Given the description of an element on the screen output the (x, y) to click on. 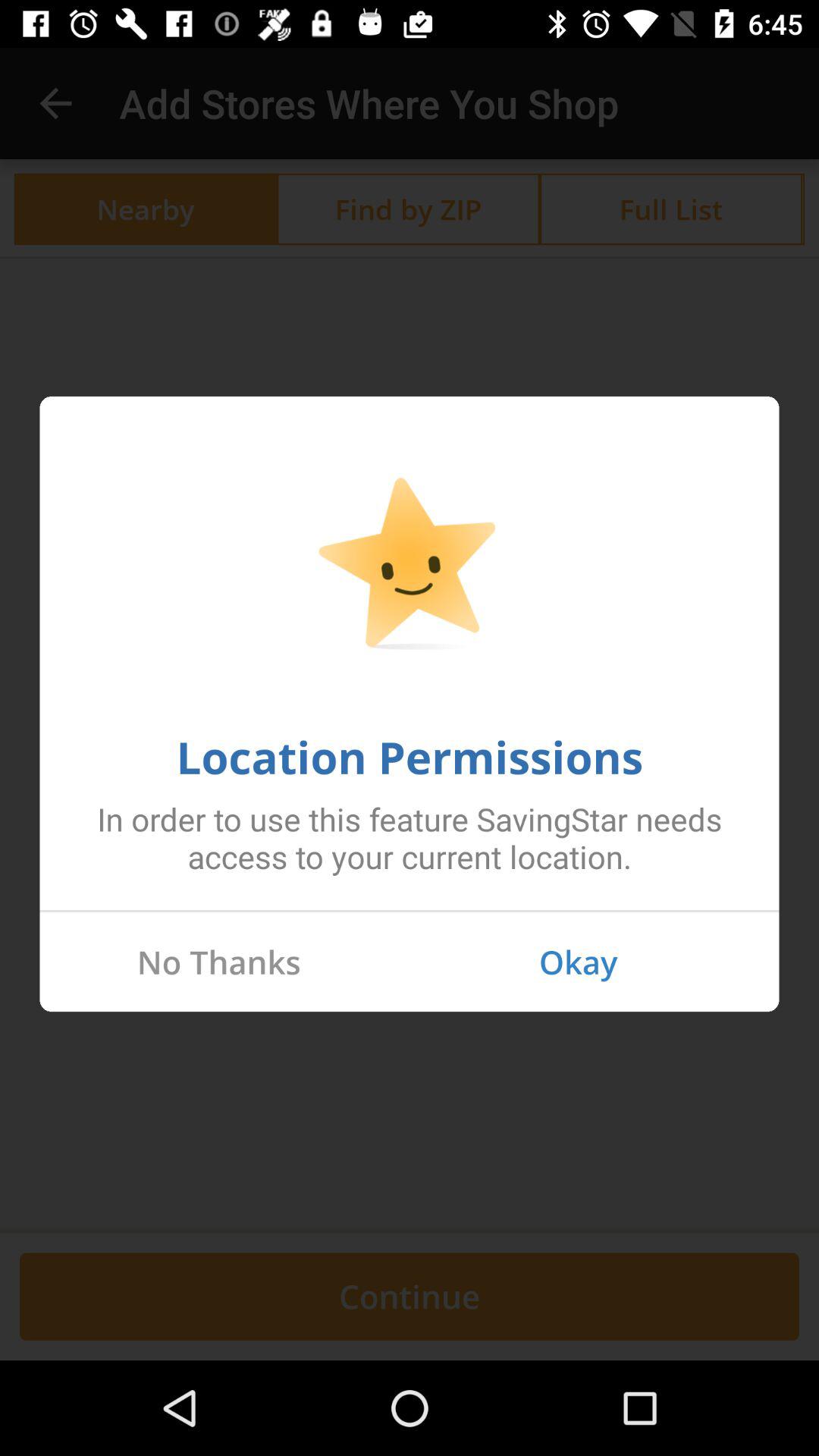
choose icon above the no thanks (409, 911)
